Given the description of an element on the screen output the (x, y) to click on. 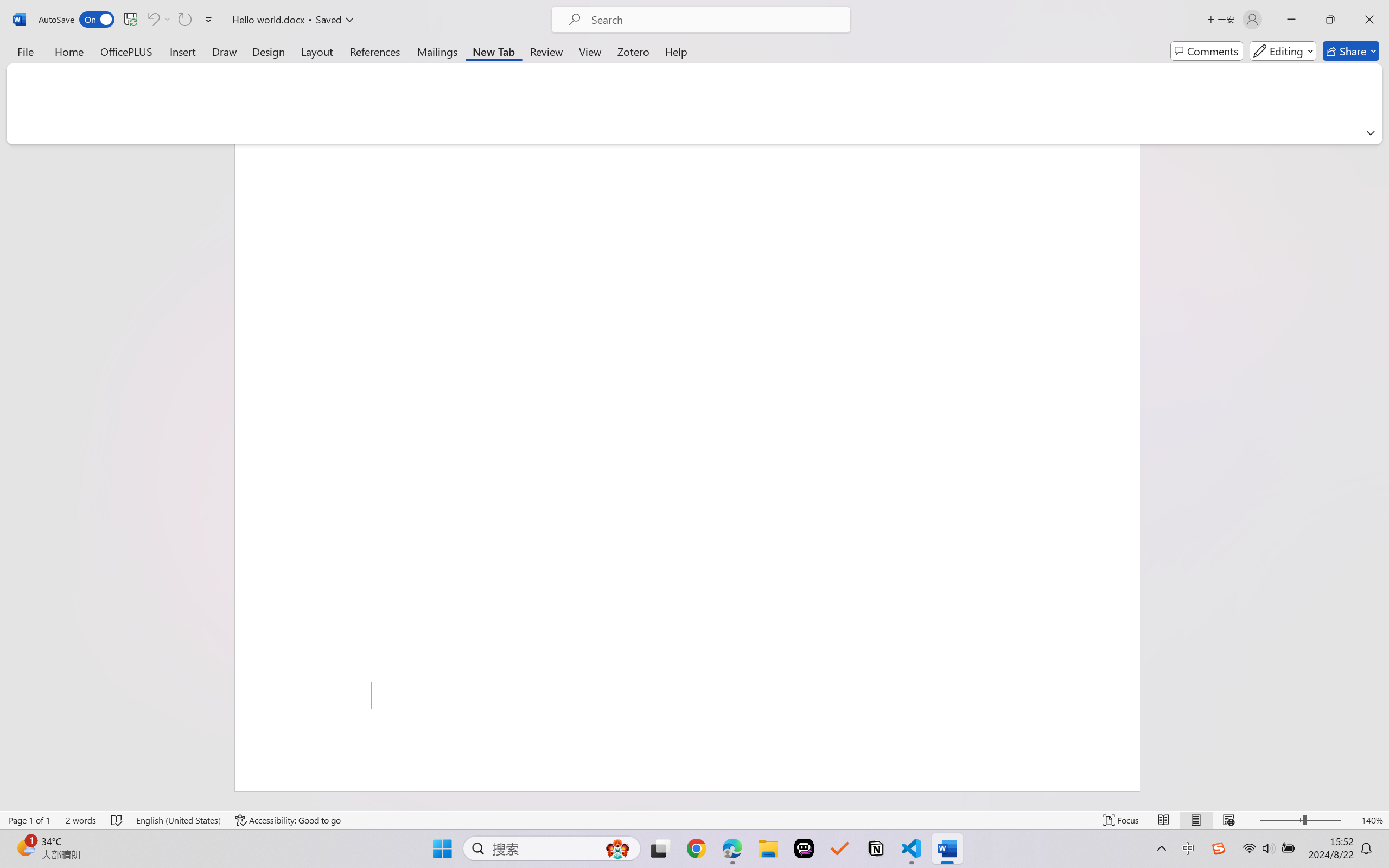
Zoom Out (1280, 819)
More Options (167, 19)
Quick Access Toolbar (127, 19)
Accessibility Checker Accessibility: Good to go (288, 819)
Zotero (632, 51)
Home (69, 51)
Focus  (1121, 819)
Comments (1206, 50)
Spelling and Grammar Check No Errors (117, 819)
Minimize (1291, 19)
Customize Quick Access Toolbar (208, 19)
Ribbon Display Options (1370, 132)
View (589, 51)
Page 1 content (687, 413)
